Given the description of an element on the screen output the (x, y) to click on. 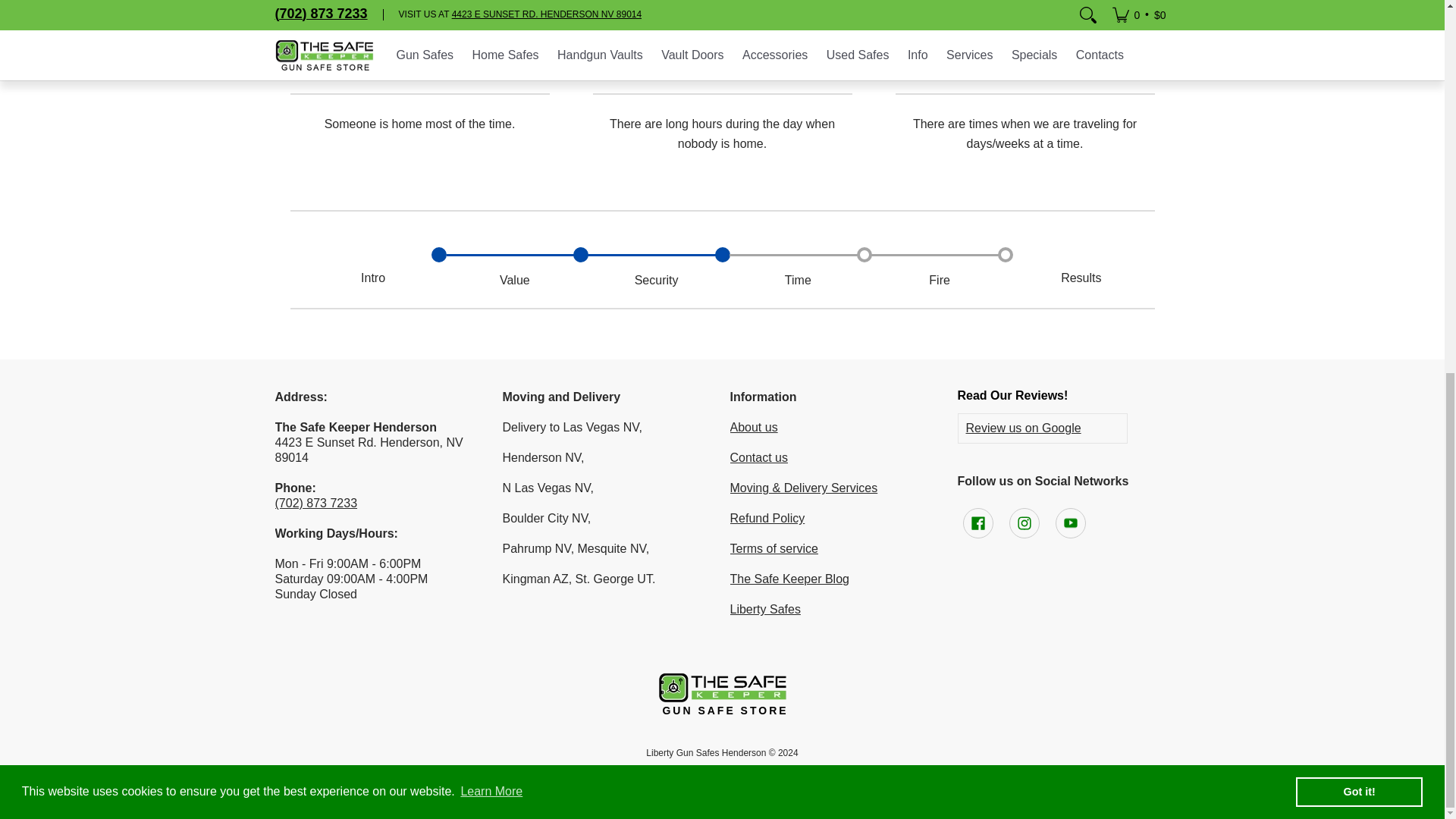
Diners Club (613, 775)
Apple Pay (580, 775)
PayPal (790, 775)
Shop Pay (826, 775)
Venmo (861, 775)
Mastercard (755, 775)
Got it! (1358, 110)
Learn More (491, 109)
American Express (544, 775)
Meta Pay (685, 775)
Google Pay (720, 775)
Discover (650, 775)
Visa (896, 775)
